Given the description of an element on the screen output the (x, y) to click on. 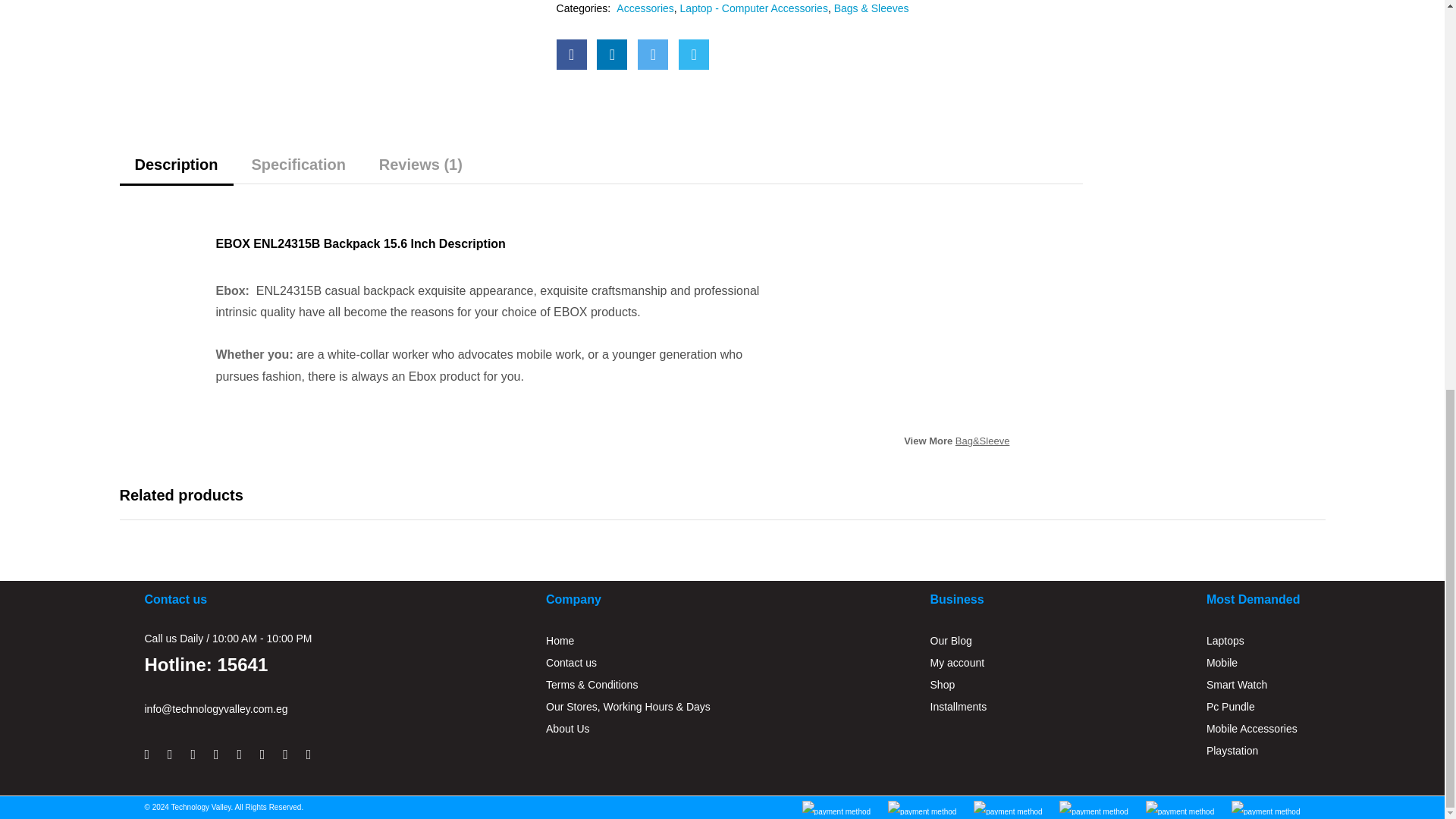
Shop (942, 684)
My account (957, 662)
Home (559, 640)
Contact us (571, 662)
About Us (567, 728)
Share on WhatsApp (693, 54)
Installments (958, 706)
Laptops (1225, 640)
Our Blog (951, 640)
